Given the description of an element on the screen output the (x, y) to click on. 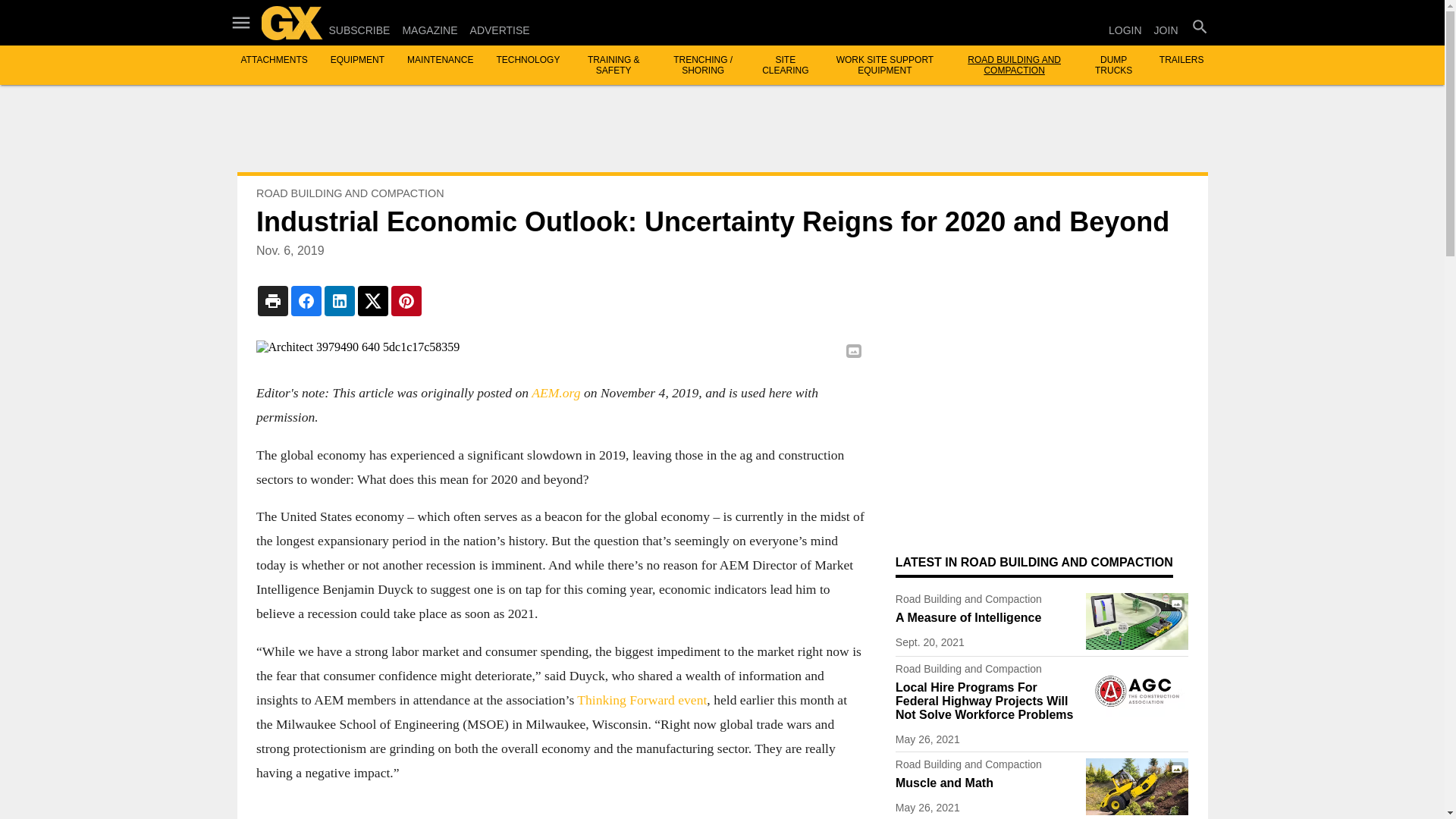
JOIN (1165, 30)
Agc Logo (1137, 690)
WORK SITE SUPPORT EQUIPMENT (884, 65)
EQUIPMENT (357, 59)
DUMP TRUCKS (1113, 65)
LOGIN (1124, 30)
MAGAZINE (429, 30)
ADVERTISE (499, 30)
Architect 3979490 640 5dc1c17c58359 (560, 346)
ROAD BUILDING AND COMPACTION (1014, 65)
ATTACHMENTS (274, 59)
TECHNOLOGY (527, 59)
SITE CLEARING (784, 65)
SUBSCRIBE (359, 30)
